Given the description of an element on the screen output the (x, y) to click on. 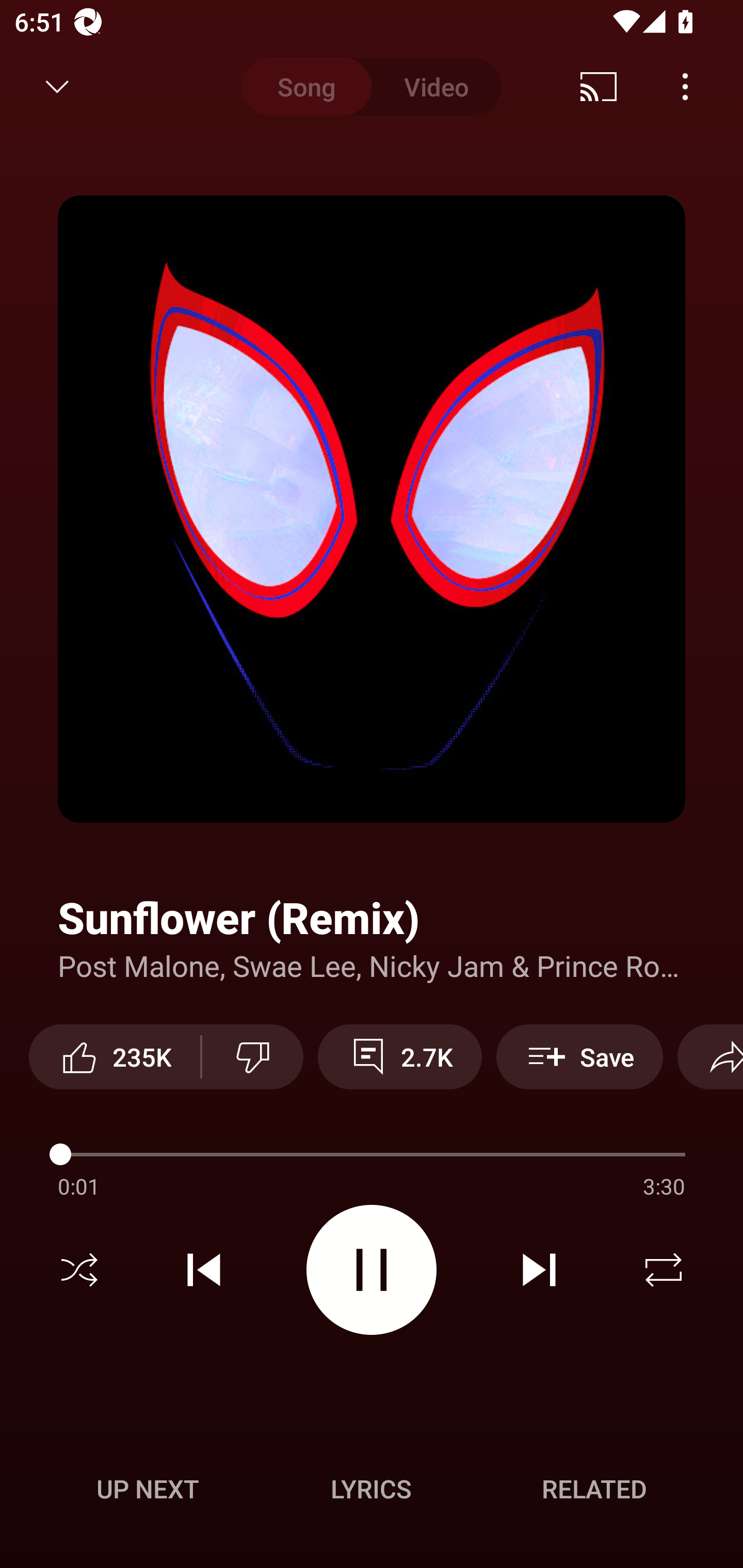
Minimize (57, 86)
Cast. Disconnected (598, 86)
Menu (684, 86)
Post Malone, Swae Lee, Nicky Jam & Prince Royce (371, 964)
Dislike (252, 1056)
2.7K View 2,746 comments (400, 1056)
Save Save to playlist (579, 1056)
Share (710, 1056)
Pause video (371, 1269)
Shuffle off (79, 1269)
Previous track (203, 1269)
Next track (538, 1269)
Repeat off (663, 1269)
Up next UP NEXT Lyrics LYRICS Related RELATED (371, 1491)
Lyrics LYRICS (370, 1488)
Related RELATED (594, 1488)
